Given the description of an element on the screen output the (x, y) to click on. 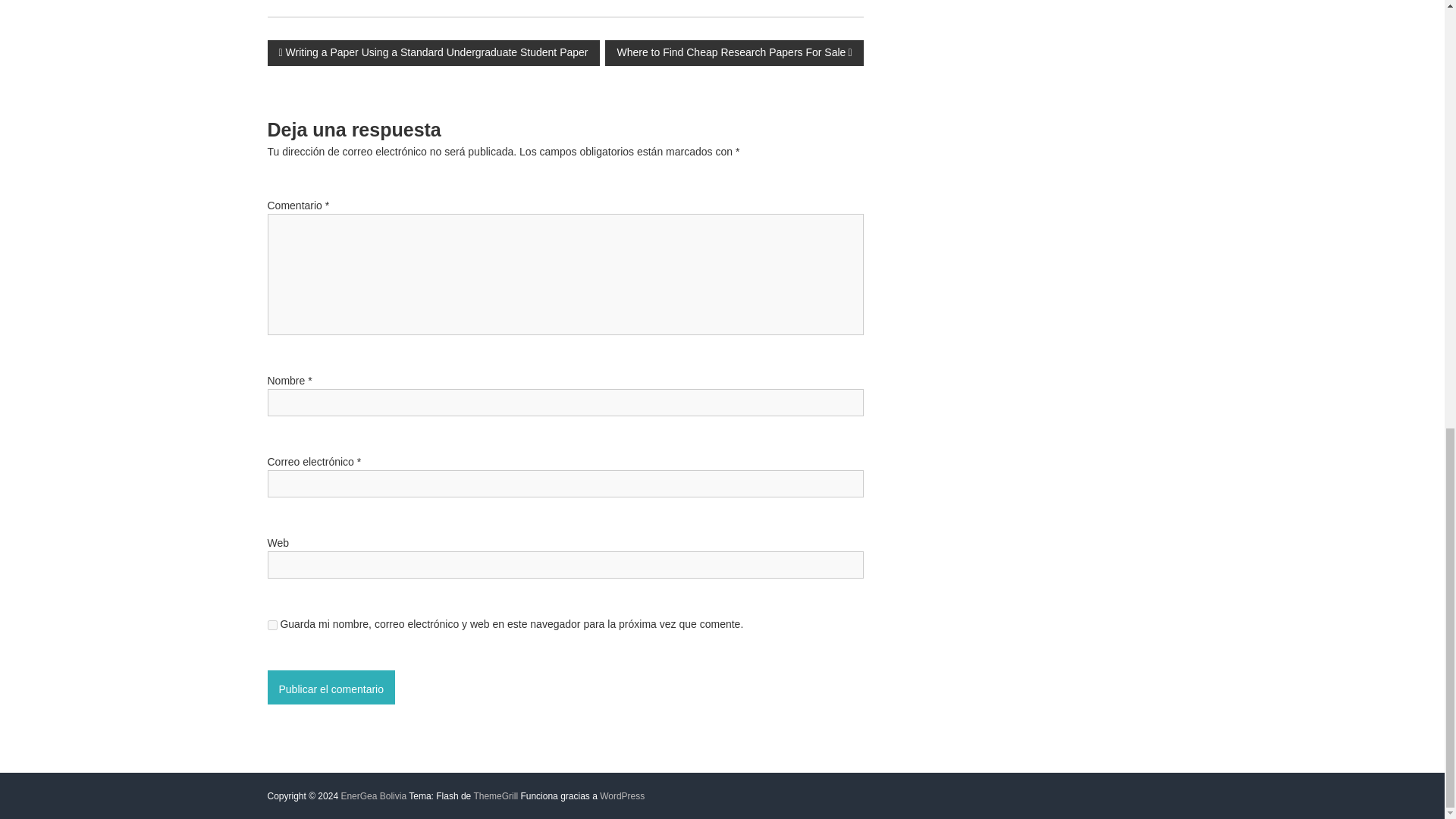
Publicar el comentario (330, 687)
Publicar el comentario (330, 687)
Writing a Paper Using a Standard Undergraduate Student Paper (432, 53)
yes (271, 624)
Where to Find Cheap Research Papers For Sale (734, 53)
